Given the description of an element on the screen output the (x, y) to click on. 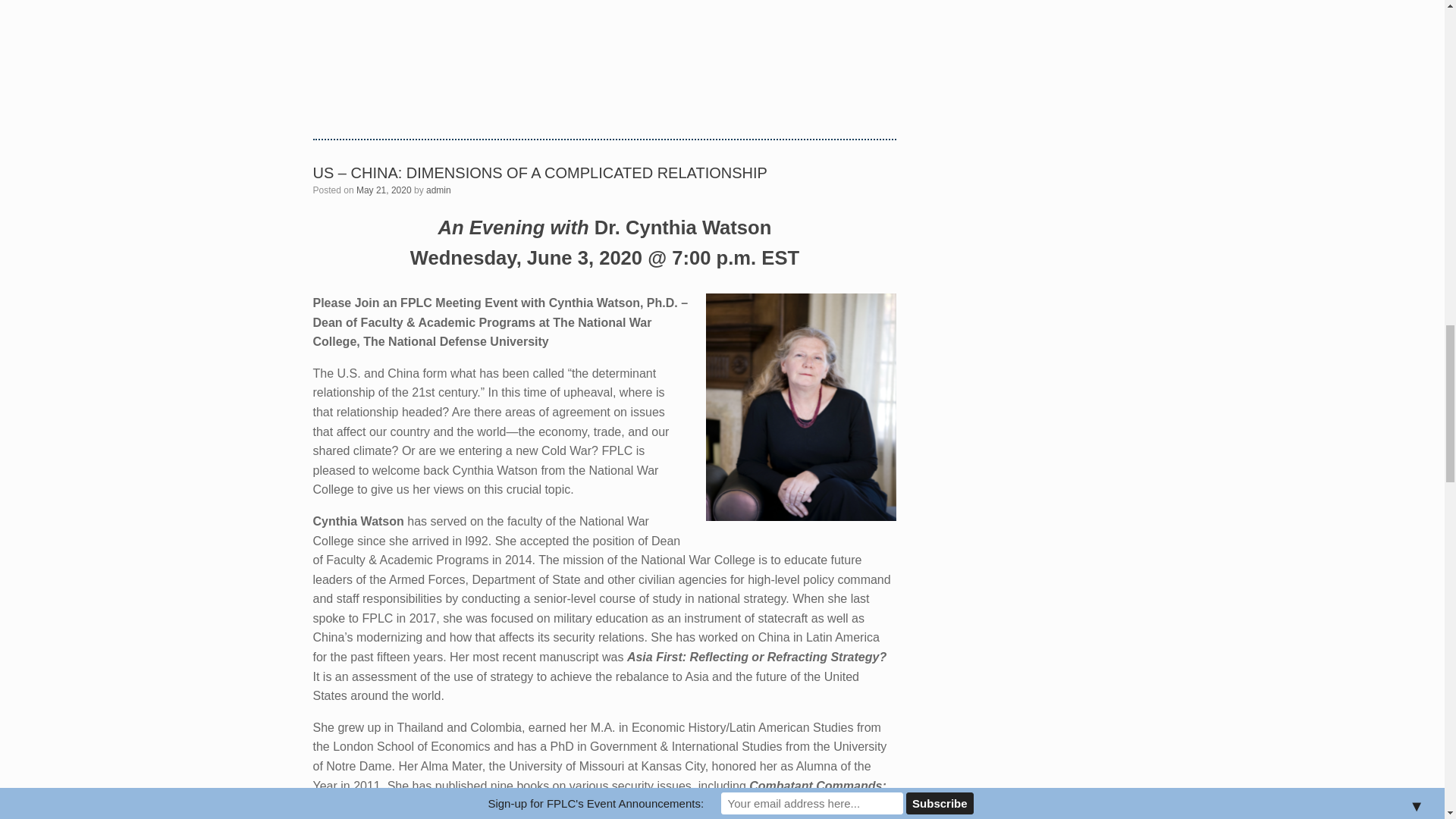
admin (438, 190)
View all posts by admin (438, 190)
May 21, 2020 (384, 190)
3:07 pm (384, 190)
